Given the description of an element on the screen output the (x, y) to click on. 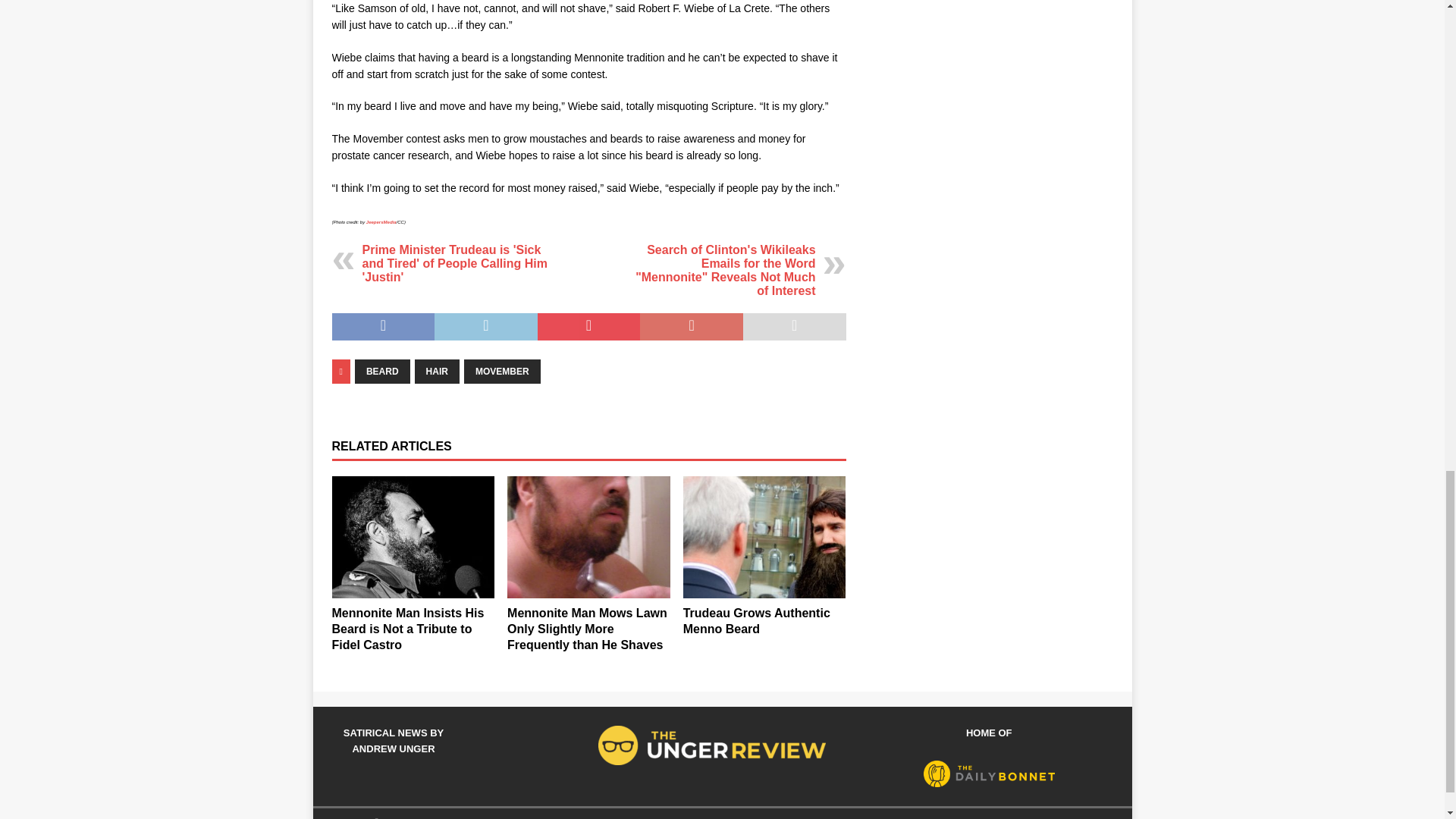
JeepersMedia (381, 222)
